Given the description of an element on the screen output the (x, y) to click on. 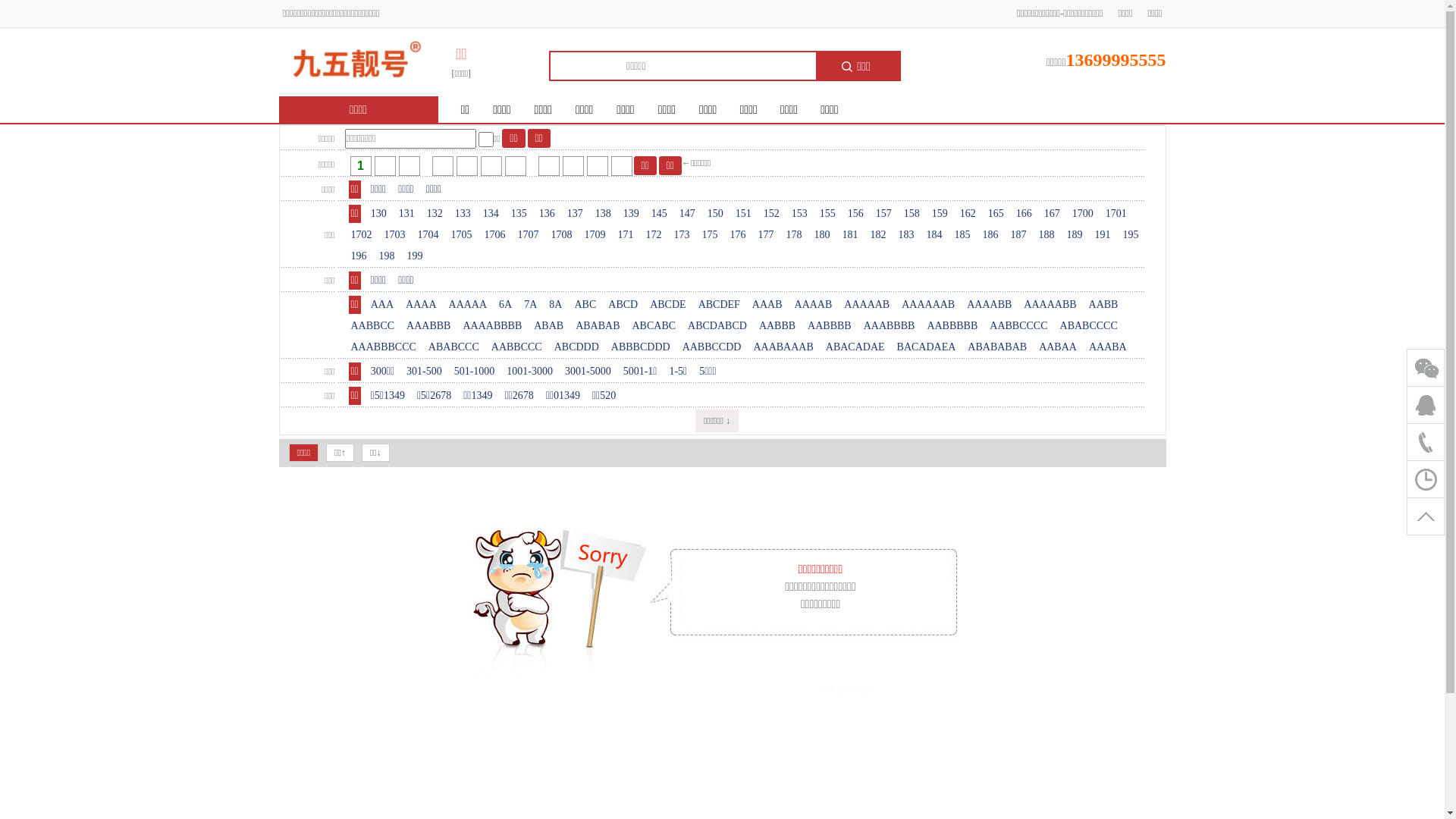
159 Element type: text (939, 213)
151 Element type: text (743, 213)
182 Element type: text (877, 234)
134 Element type: text (490, 213)
ABBBCDDD Element type: text (640, 347)
195 Element type: text (1130, 234)
166 Element type: text (1023, 213)
AABBBBB Element type: text (951, 325)
AABBCC Element type: text (372, 325)
177 Element type: text (765, 234)
157 Element type: text (883, 213)
BACADAEA Element type: text (926, 347)
ABABAB Element type: text (597, 325)
AAAAA Element type: text (467, 304)
301-500 Element type: text (424, 371)
AAAA Element type: text (420, 304)
180 Element type: text (821, 234)
AAABAAAB Element type: text (782, 347)
199 Element type: text (414, 256)
ABCDABCD Element type: text (717, 325)
AAABBBB Element type: text (889, 325)
153 Element type: text (799, 213)
165 Element type: text (995, 213)
AAA Element type: text (381, 304)
175 Element type: text (709, 234)
150 Element type: text (715, 213)
178 Element type: text (794, 234)
AABBCCCC Element type: text (1018, 325)
ABCABC Element type: text (653, 325)
AABBB Element type: text (776, 325)
1707 Element type: text (528, 234)
ABCD Element type: text (622, 304)
155 Element type: text (827, 213)
AAAAAB Element type: text (866, 304)
ABACADAE Element type: text (855, 347)
AABB Element type: text (1103, 304)
ABC Element type: text (584, 304)
173 Element type: text (681, 234)
AAAB Element type: text (766, 304)
AAABBBCCC Element type: text (383, 347)
132 Element type: text (434, 213)
1703 Element type: text (394, 234)
145 Element type: text (659, 213)
AAAABBBB Element type: text (492, 325)
167 Element type: text (1051, 213)
1704 Element type: text (428, 234)
AAABA Element type: text (1107, 347)
AABAA Element type: text (1057, 347)
186 Element type: text (989, 234)
198 Element type: text (386, 256)
147 Element type: text (687, 213)
152 Element type: text (771, 213)
1708 Element type: text (561, 234)
187 Element type: text (1018, 234)
185 Element type: text (962, 234)
184 Element type: text (933, 234)
ABAB Element type: text (548, 325)
6A Element type: text (505, 304)
ABCDEF Element type: text (719, 304)
AABBCCDD Element type: text (711, 347)
162 Element type: text (967, 213)
135 Element type: text (518, 213)
ABCDDD Element type: text (576, 347)
1001-3000 Element type: text (529, 371)
1701 Element type: text (1116, 213)
188 Element type: text (1045, 234)
501-1000 Element type: text (474, 371)
AABBCCC Element type: text (516, 347)
AAAAB Element type: text (813, 304)
171 Element type: text (625, 234)
1705 Element type: text (461, 234)
136 Element type: text (546, 213)
189 Element type: text (1074, 234)
181 Element type: text (850, 234)
ABABABAB Element type: text (997, 347)
1700 Element type: text (1082, 213)
130 Element type: text (378, 213)
3001-5000 Element type: text (587, 371)
ABCDE Element type: text (667, 304)
AAAAAAB Element type: text (928, 304)
191 Element type: text (1102, 234)
7A Element type: text (530, 304)
1702 Element type: text (361, 234)
ABABCCC Element type: text (453, 347)
1706 Element type: text (495, 234)
137 Element type: text (574, 213)
172 Element type: text (653, 234)
139 Element type: text (631, 213)
8A Element type: text (555, 304)
133 Element type: text (462, 213)
196 Element type: text (358, 256)
ABABCCCC Element type: text (1088, 325)
131 Element type: text (406, 213)
AAABBB Element type: text (428, 325)
AAAAABB Element type: text (1049, 304)
156 Element type: text (855, 213)
158 Element type: text (911, 213)
183 Element type: text (906, 234)
AAAABB Element type: text (988, 304)
138 Element type: text (603, 213)
1709 Element type: text (595, 234)
AABBBB Element type: text (829, 325)
176 Element type: text (738, 234)
